Given the description of an element on the screen output the (x, y) to click on. 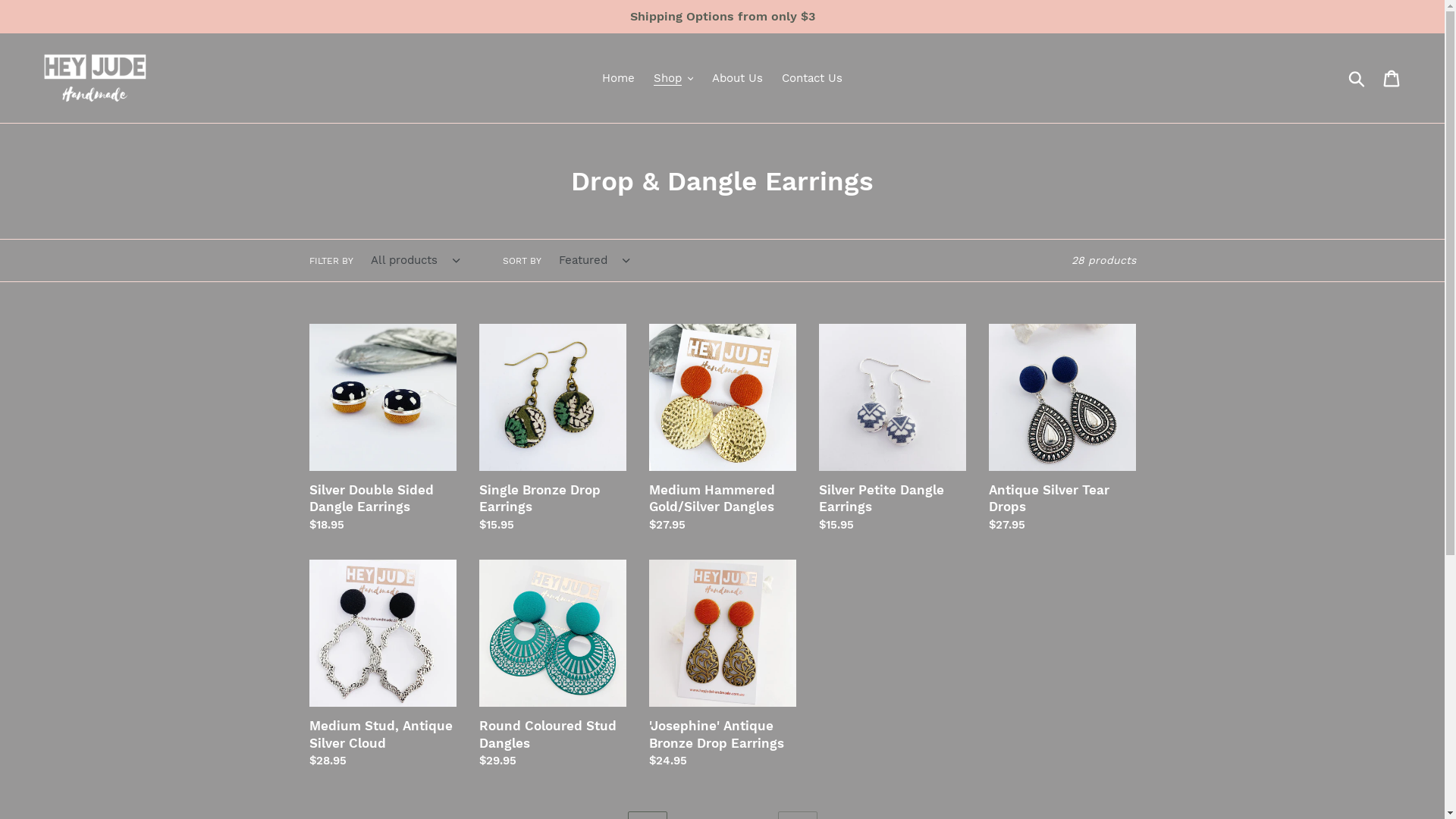
Medium Stud, Antique Silver Cloud Element type: text (382, 664)
Round Coloured Stud Dangles Element type: text (552, 664)
Cart Element type: text (1392, 77)
Shipping Options from only $3 Element type: text (722, 16)
Medium Hammered Gold/Silver Dangles Element type: text (722, 428)
'Josephine' Antique Bronze Drop Earrings Element type: text (722, 664)
Antique Silver Tear Drops Element type: text (1061, 428)
Single Bronze Drop Earrings Element type: text (552, 428)
Silver Double Sided Dangle Earrings Element type: text (382, 428)
Home Element type: text (618, 78)
Silver Petite Dangle Earrings Element type: text (892, 428)
About Us Element type: text (737, 78)
Contact Us Element type: text (812, 78)
Submit Element type: text (1357, 77)
